Given the description of an element on the screen output the (x, y) to click on. 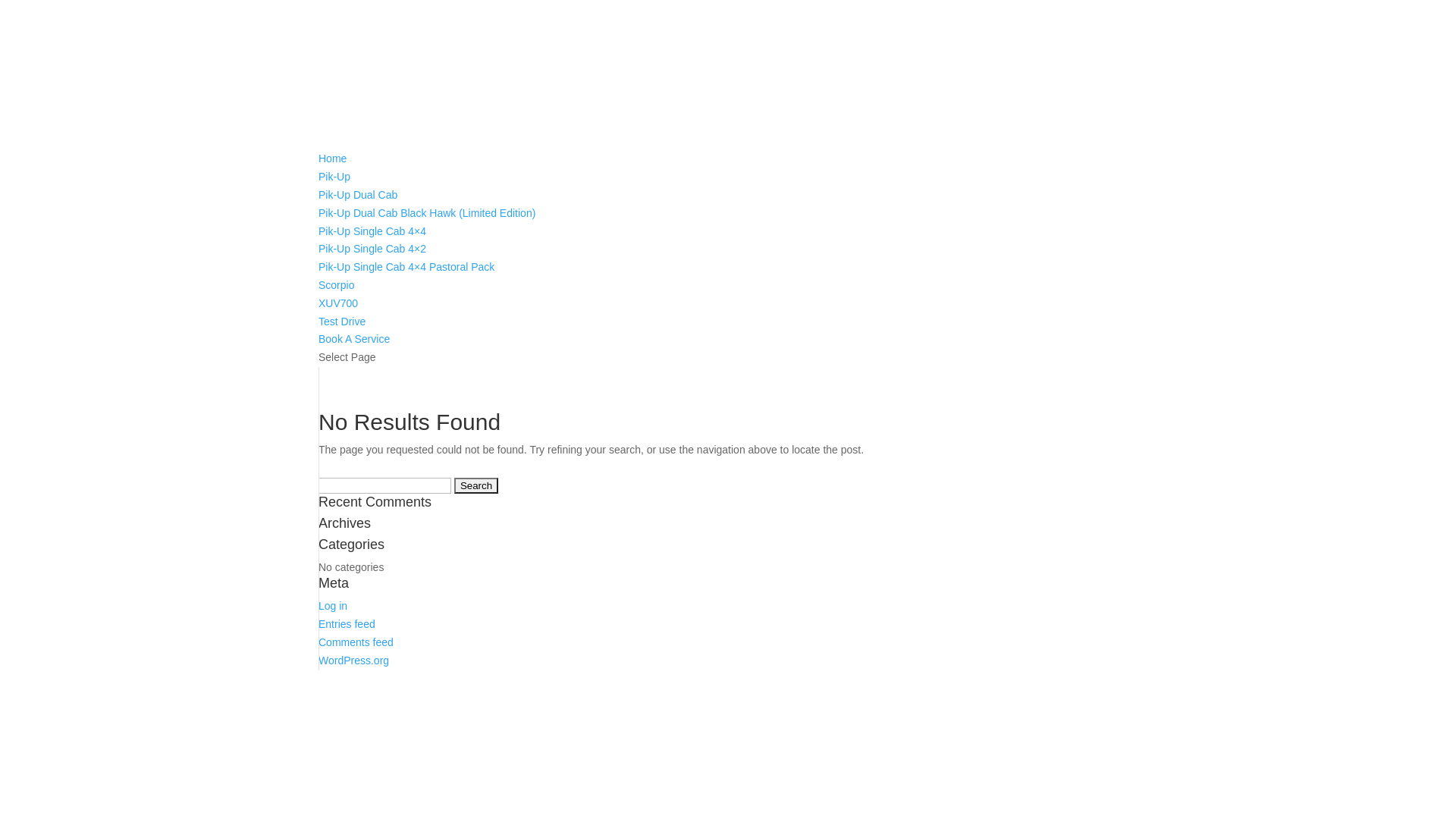
XUV700 Element type: text (337, 303)
WordPress.org Element type: text (353, 660)
Book A Service Element type: text (353, 338)
Pik-Up Dual Cab Element type: text (357, 194)
Search Element type: text (476, 485)
Pik-Up Dual Cab Black Hawk (Limited Edition) Element type: text (426, 213)
Pik-Up Element type: text (334, 176)
Scorpio Element type: text (336, 285)
Comments feed Element type: text (355, 642)
Log in Element type: text (332, 605)
Test Drive Element type: text (341, 321)
Home Element type: text (332, 158)
Entries feed Element type: text (346, 624)
